Given the description of an element on the screen output the (x, y) to click on. 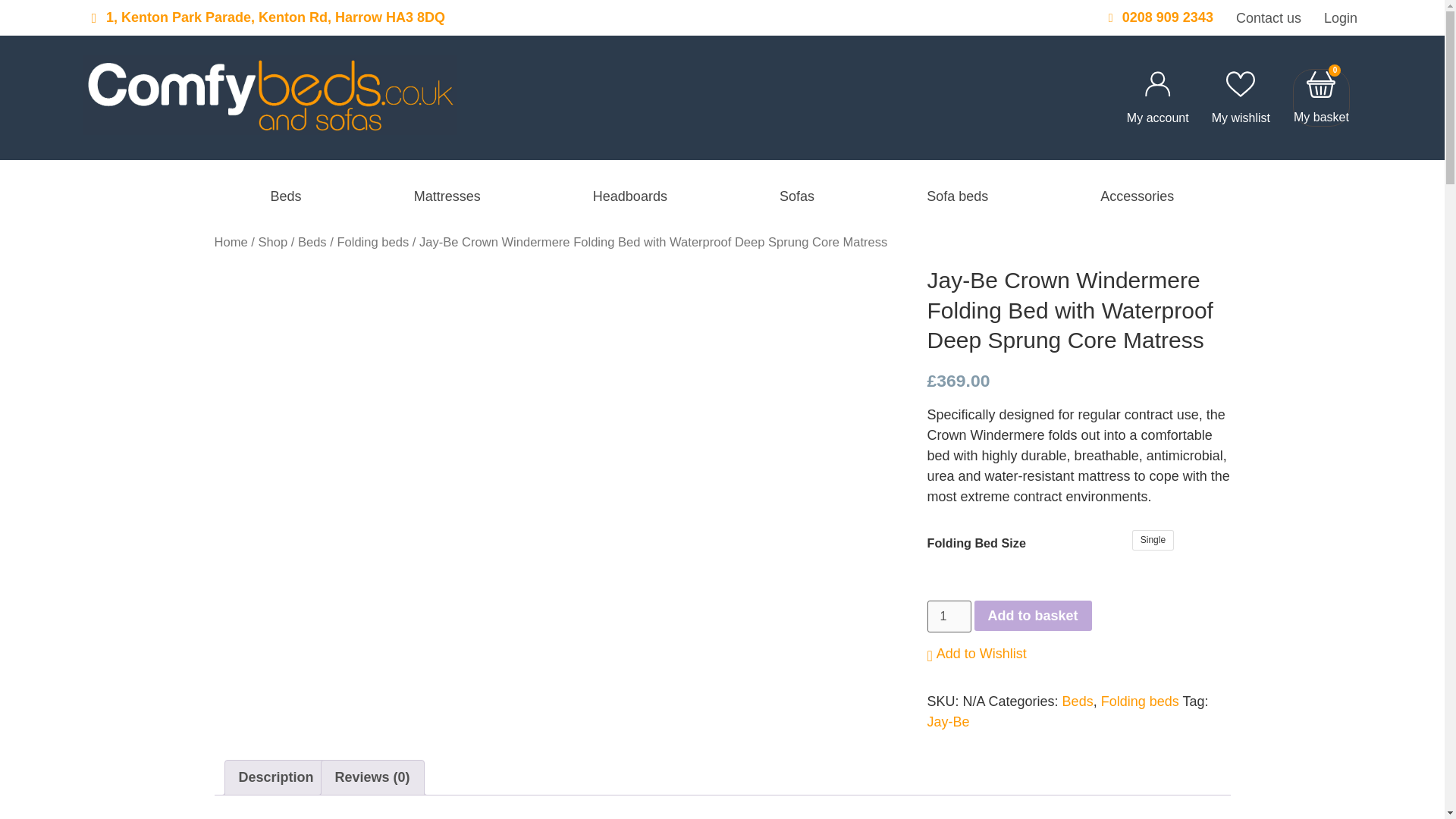
Add to Wishlist (976, 653)
1 (948, 616)
Shop (271, 242)
Folding beds (372, 242)
Sofa beds (956, 196)
My wishlist (1240, 117)
Add to basket (1033, 615)
Folding beds (1139, 701)
Beds (312, 242)
Beds (286, 196)
